Given the description of an element on the screen output the (x, y) to click on. 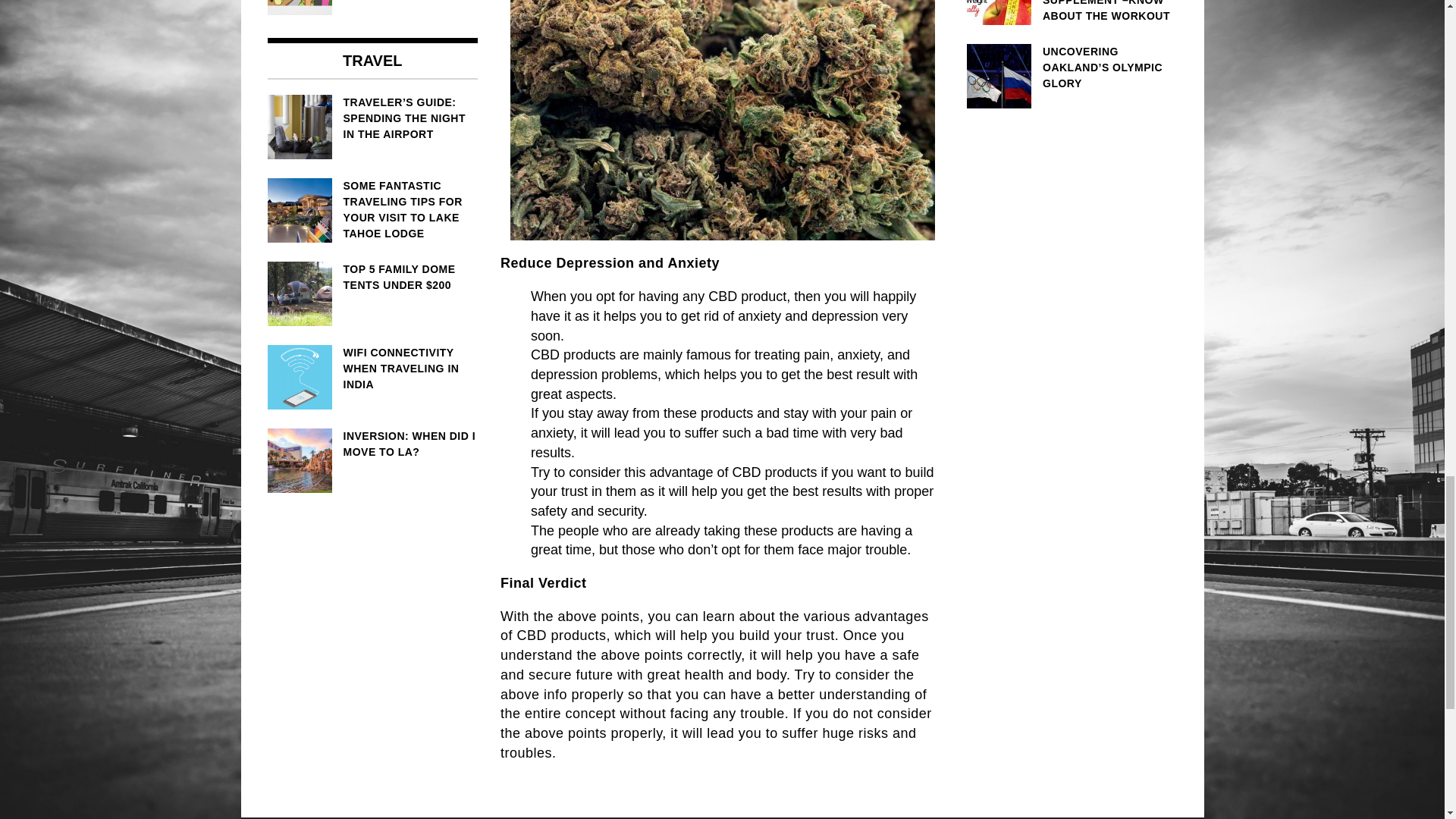
WIFI CONNECTIVITY WHEN TRAVELING IN INDIA (371, 368)
INVERSION: WHEN DID I MOVE TO LA? (371, 444)
